Given the description of an element on the screen output the (x, y) to click on. 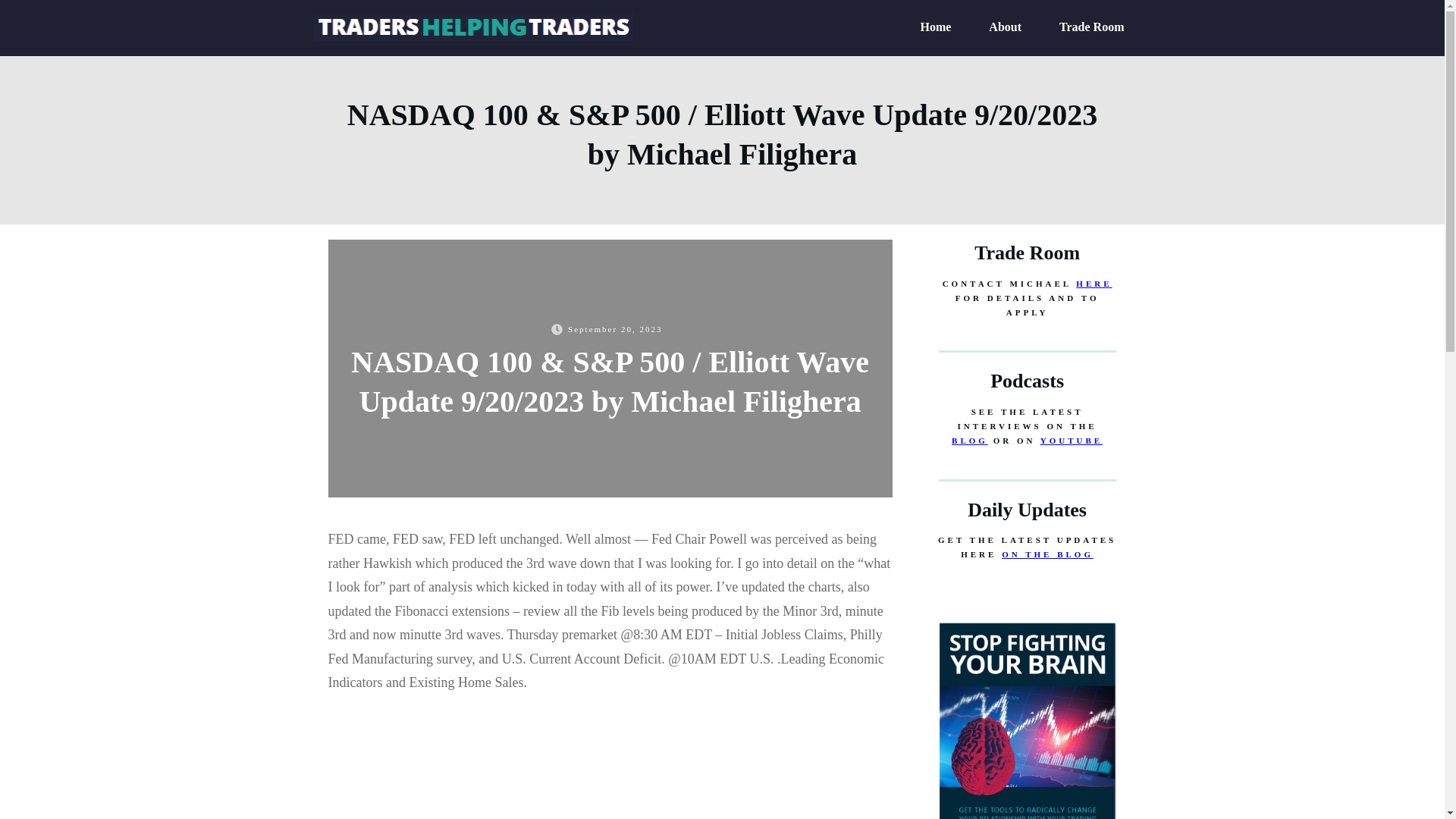
ON THE BLOG (1047, 553)
Trade Room (1091, 27)
BLOG (970, 440)
HERE (1093, 283)
Home (935, 27)
About (1005, 27)
YOUTUBE (1071, 440)
